Given the description of an element on the screen output the (x, y) to click on. 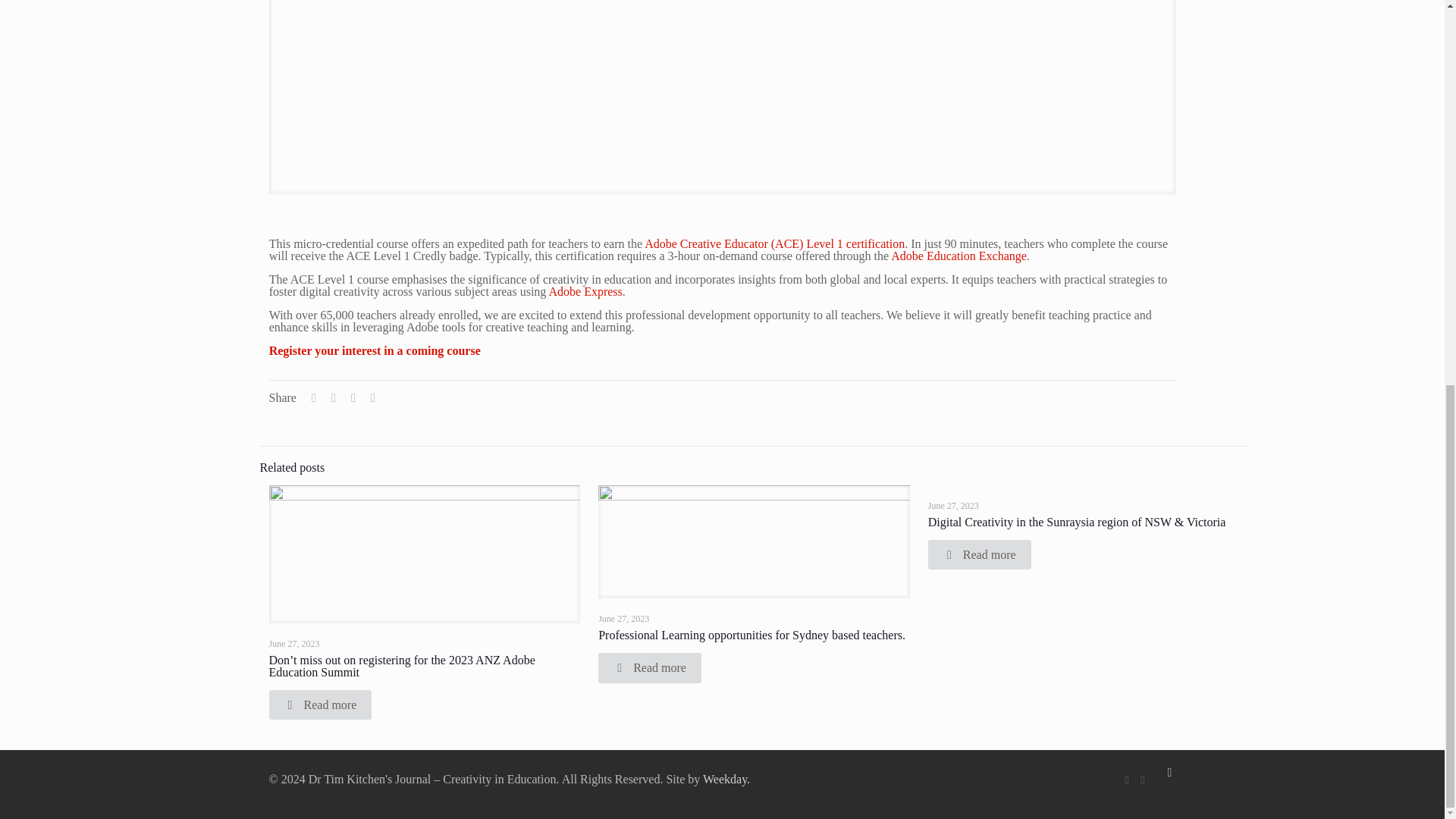
Read more (319, 704)
LinkedIn (1142, 779)
Adobe Education Exchange (958, 255)
Adobe Express (584, 291)
Read more (649, 667)
Register your interest in a coming course (374, 350)
Read more (979, 554)
